Given the description of an element on the screen output the (x, y) to click on. 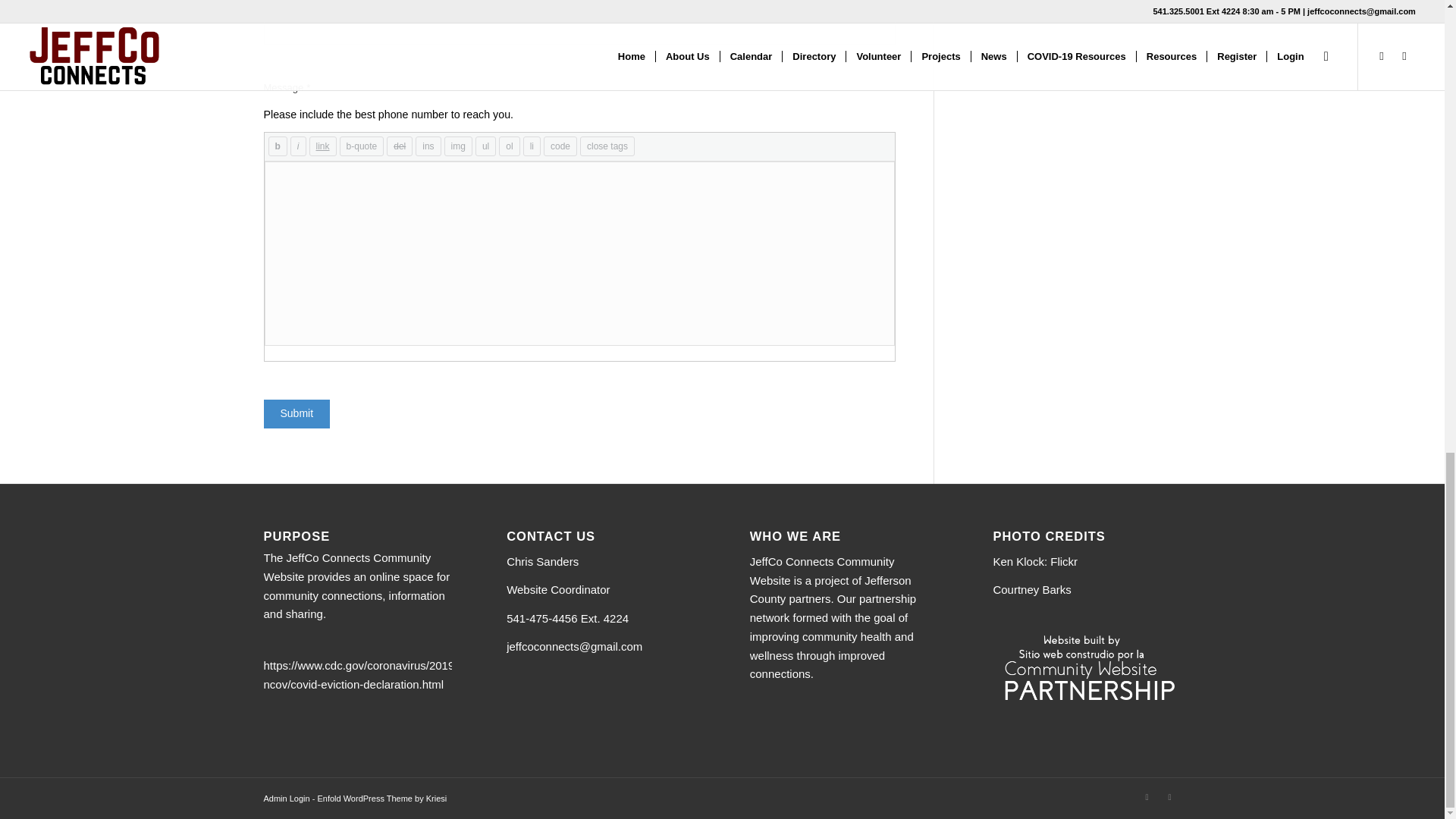
li (531, 146)
i (297, 146)
ul (486, 146)
Submit (296, 413)
img (457, 146)
ins (427, 146)
link (322, 146)
close tags (606, 146)
Close all open tags (606, 146)
ol (509, 146)
b (276, 146)
b-quote (361, 146)
code (559, 146)
del (399, 146)
